Given the description of an element on the screen output the (x, y) to click on. 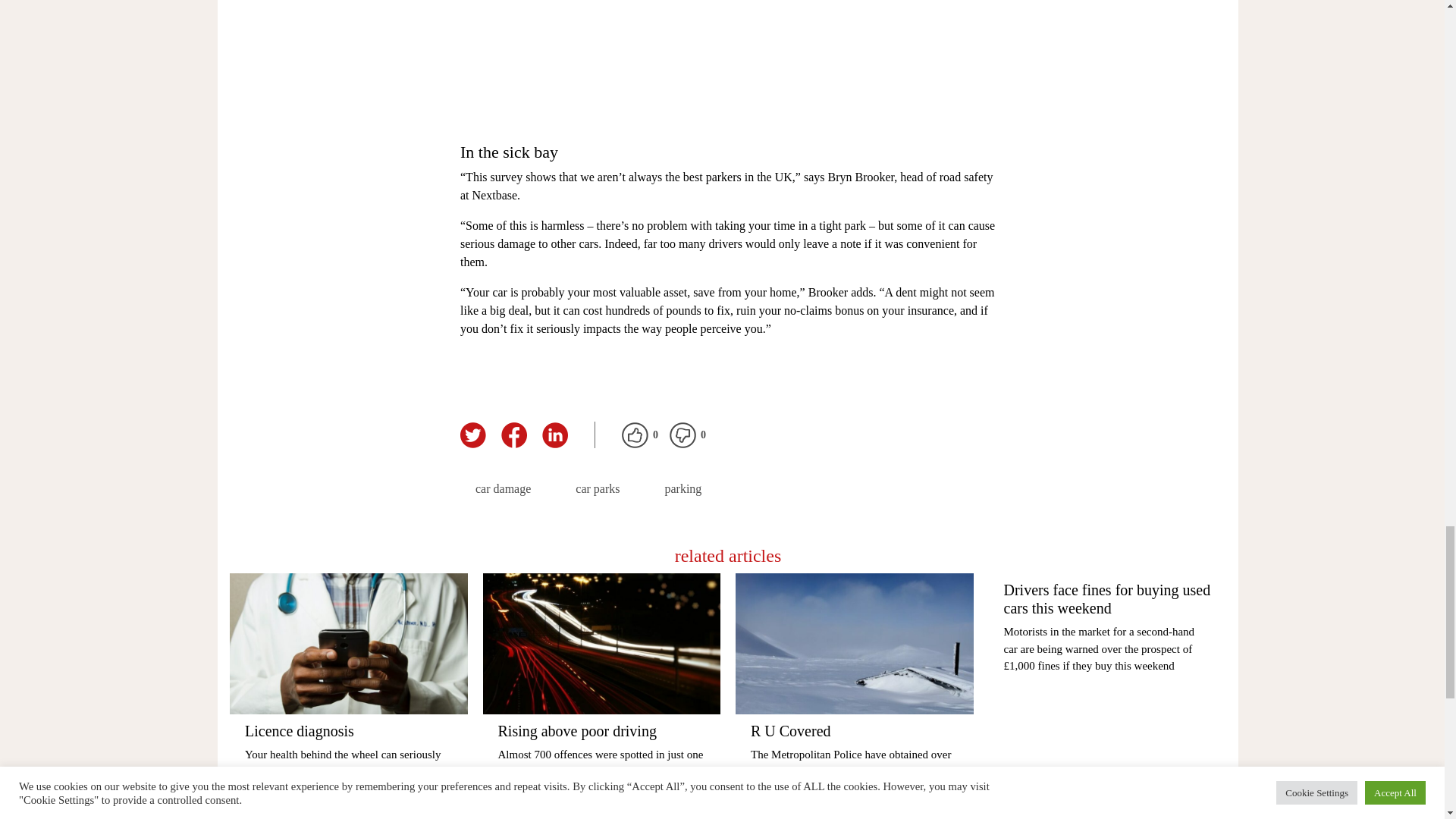
Facebook (513, 434)
3rd party ad content (727, 62)
LinkedIn (554, 434)
Twitter (472, 434)
